Given the description of an element on the screen output the (x, y) to click on. 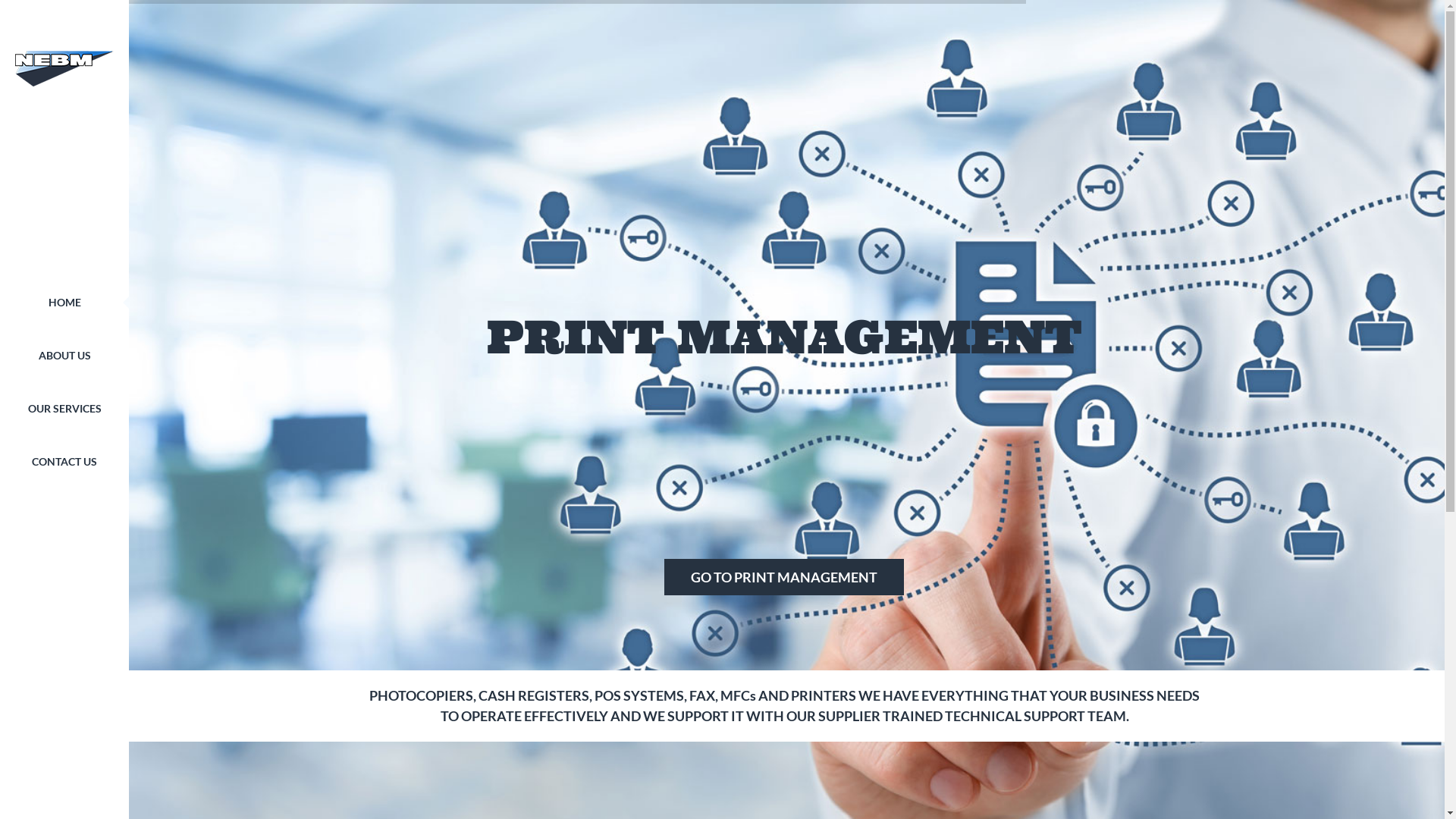
OUR SERVICES Element type: text (63, 408)
HOME Element type: text (64, 302)
CONTACT US Element type: text (64, 461)
ABOUT US Element type: text (63, 355)
